Given the description of an element on the screen output the (x, y) to click on. 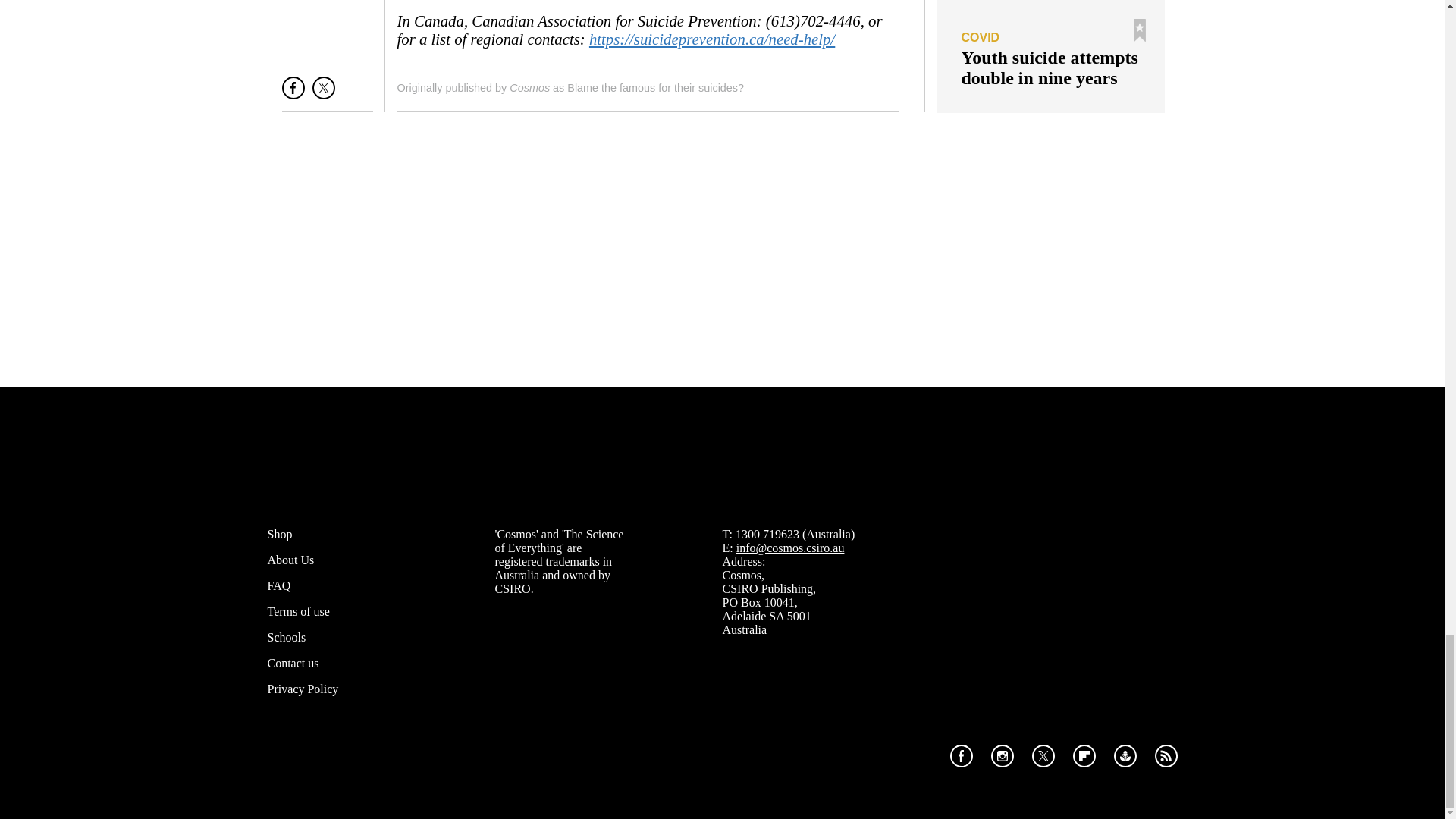
Blame the famous for their suicides? (655, 87)
Tweet (323, 93)
Share on Facebook (293, 93)
